Given the description of an element on the screen output the (x, y) to click on. 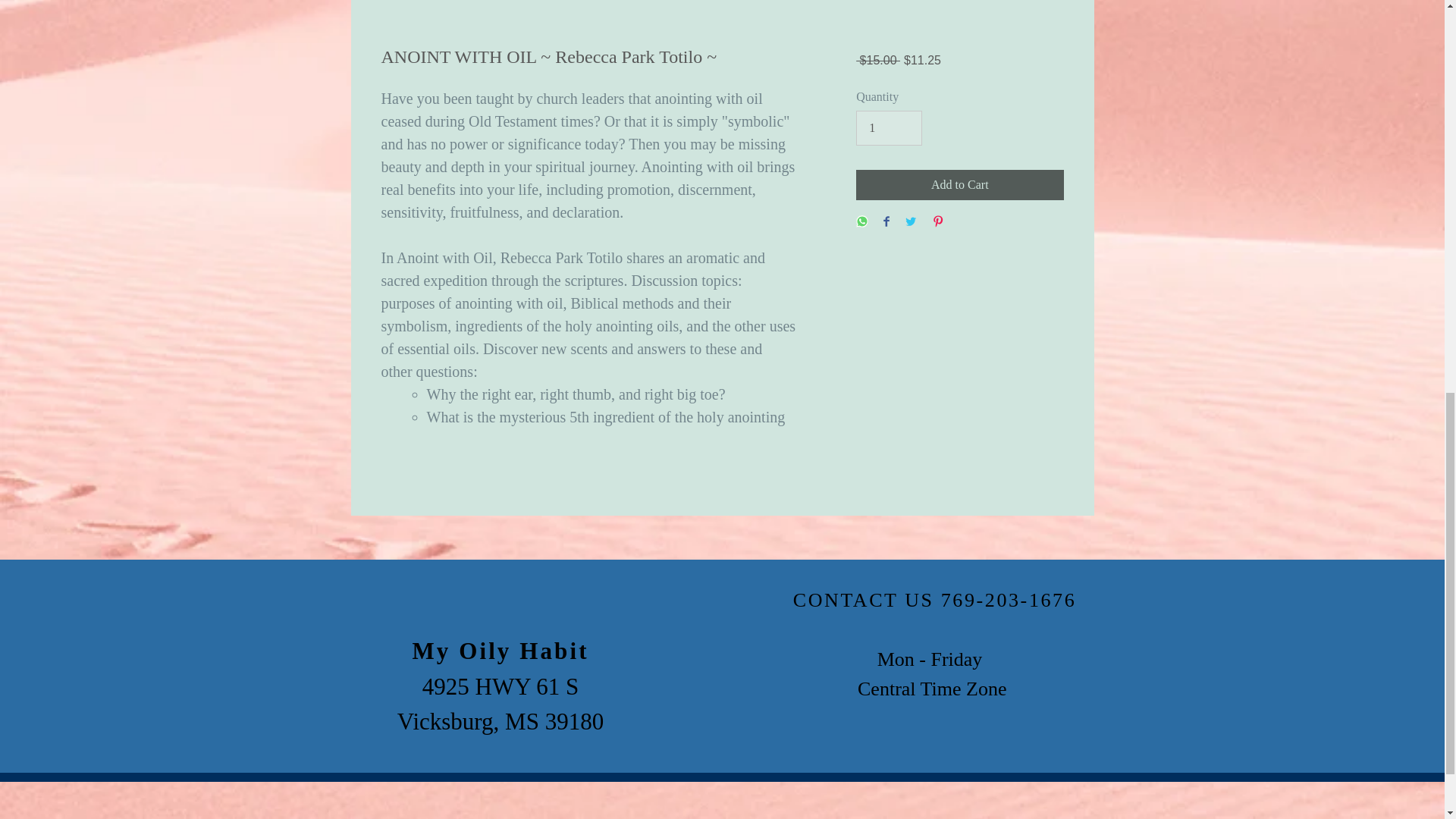
1 (888, 127)
